Given the description of an element on the screen output the (x, y) to click on. 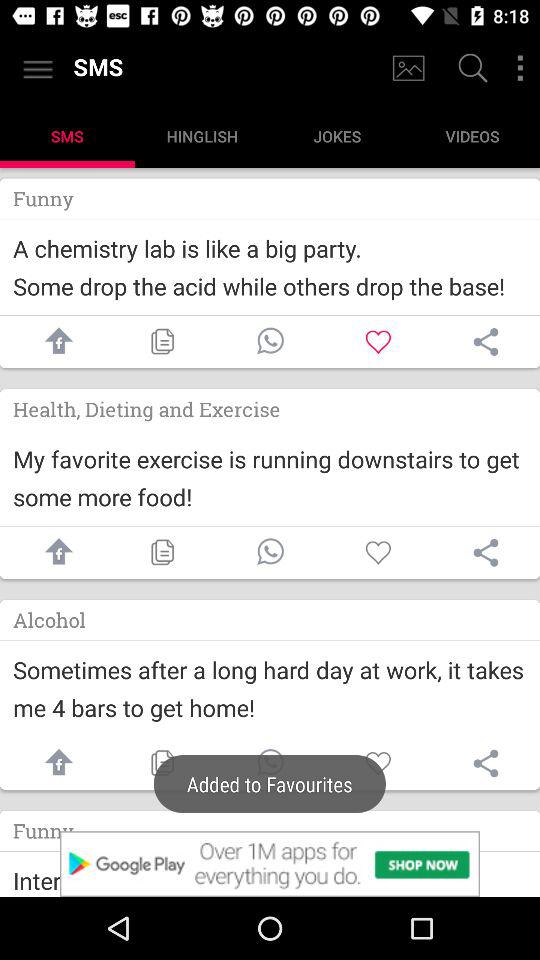
copy button (162, 552)
